Given the description of an element on the screen output the (x, y) to click on. 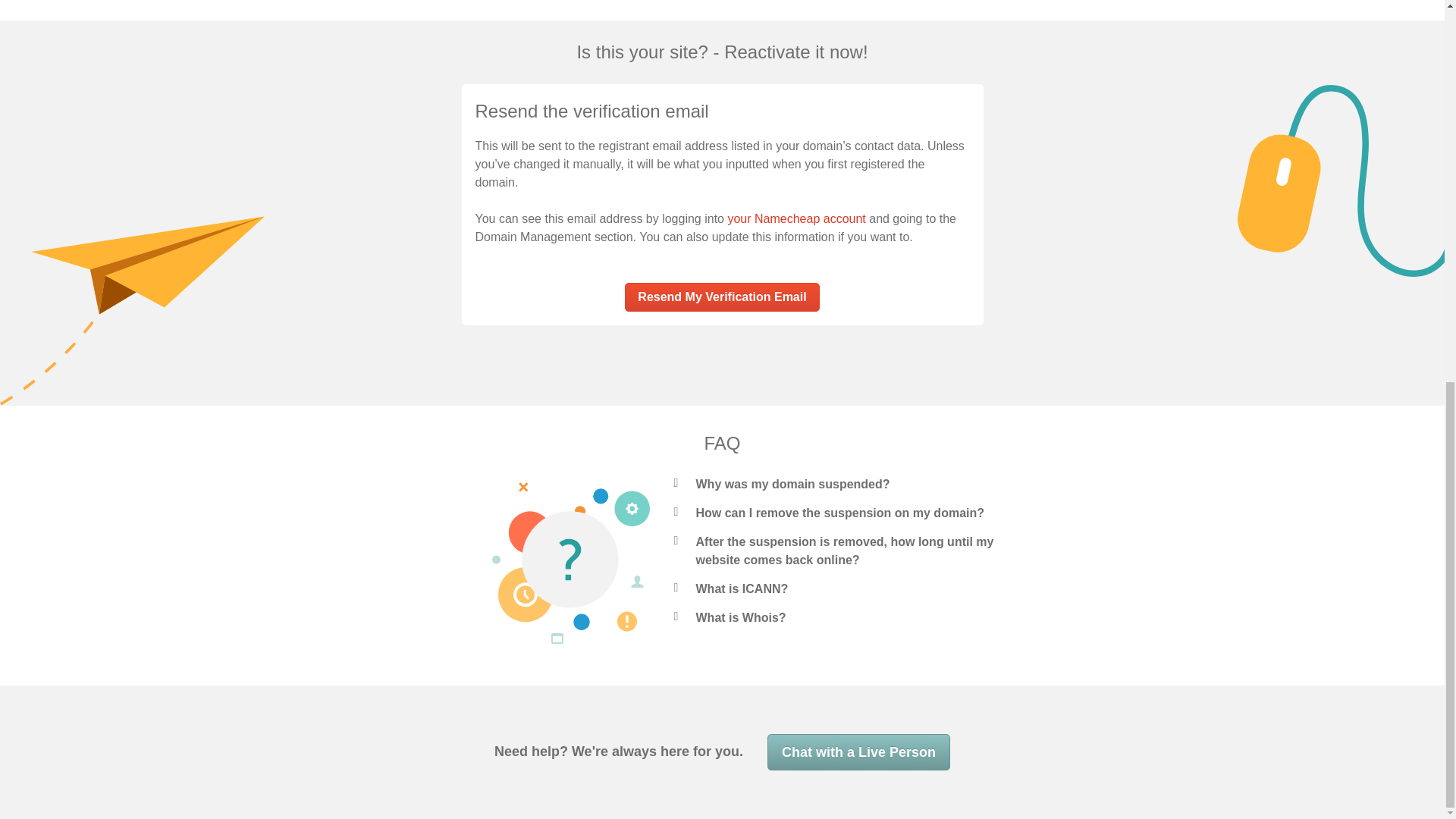
Chat with a Live Person (858, 751)
your Namecheap account (795, 218)
Resend My Verification Email (721, 297)
